Given the description of an element on the screen output the (x, y) to click on. 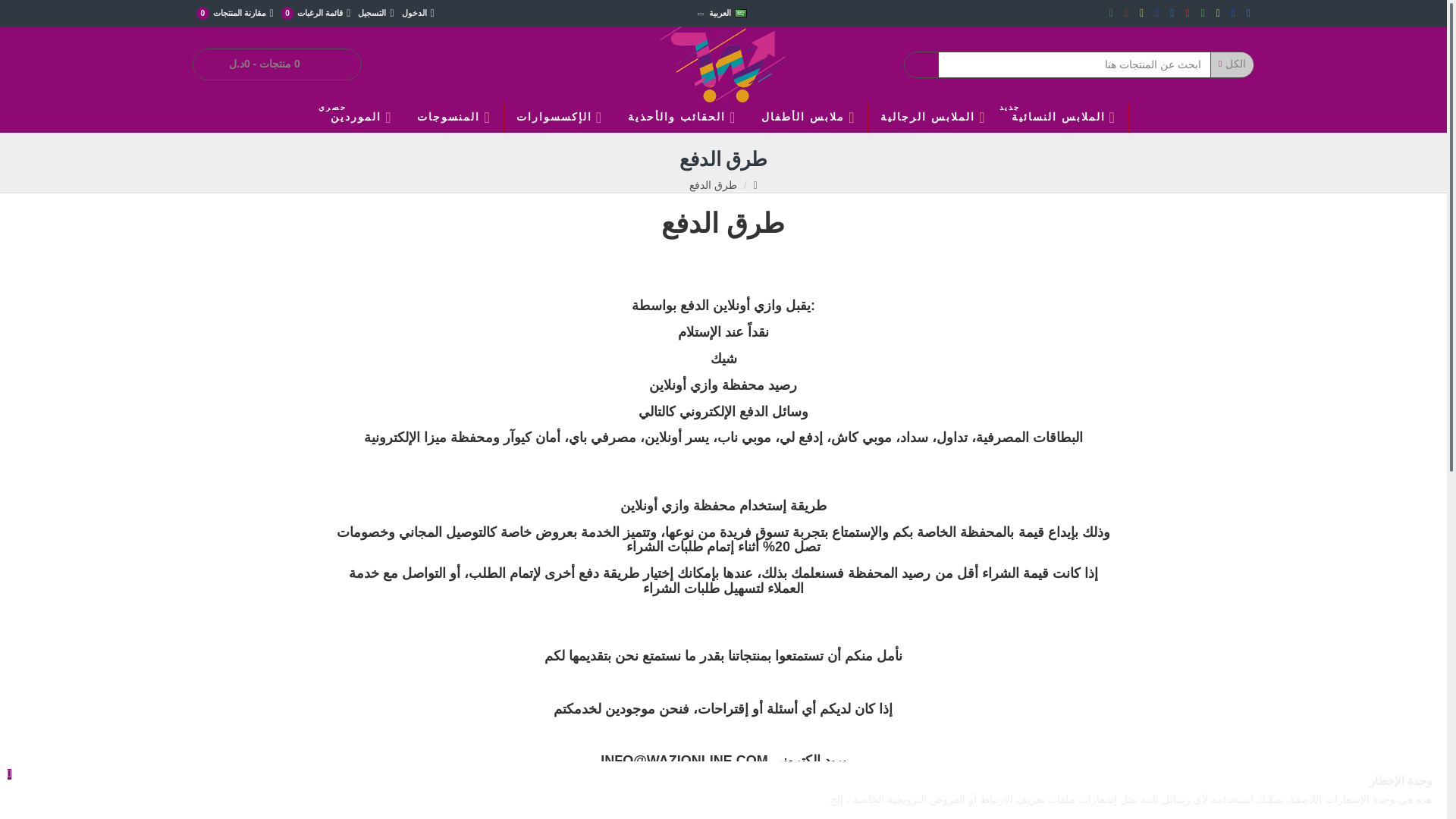
Wazi Online (723, 64)
